Given the description of an element on the screen output the (x, y) to click on. 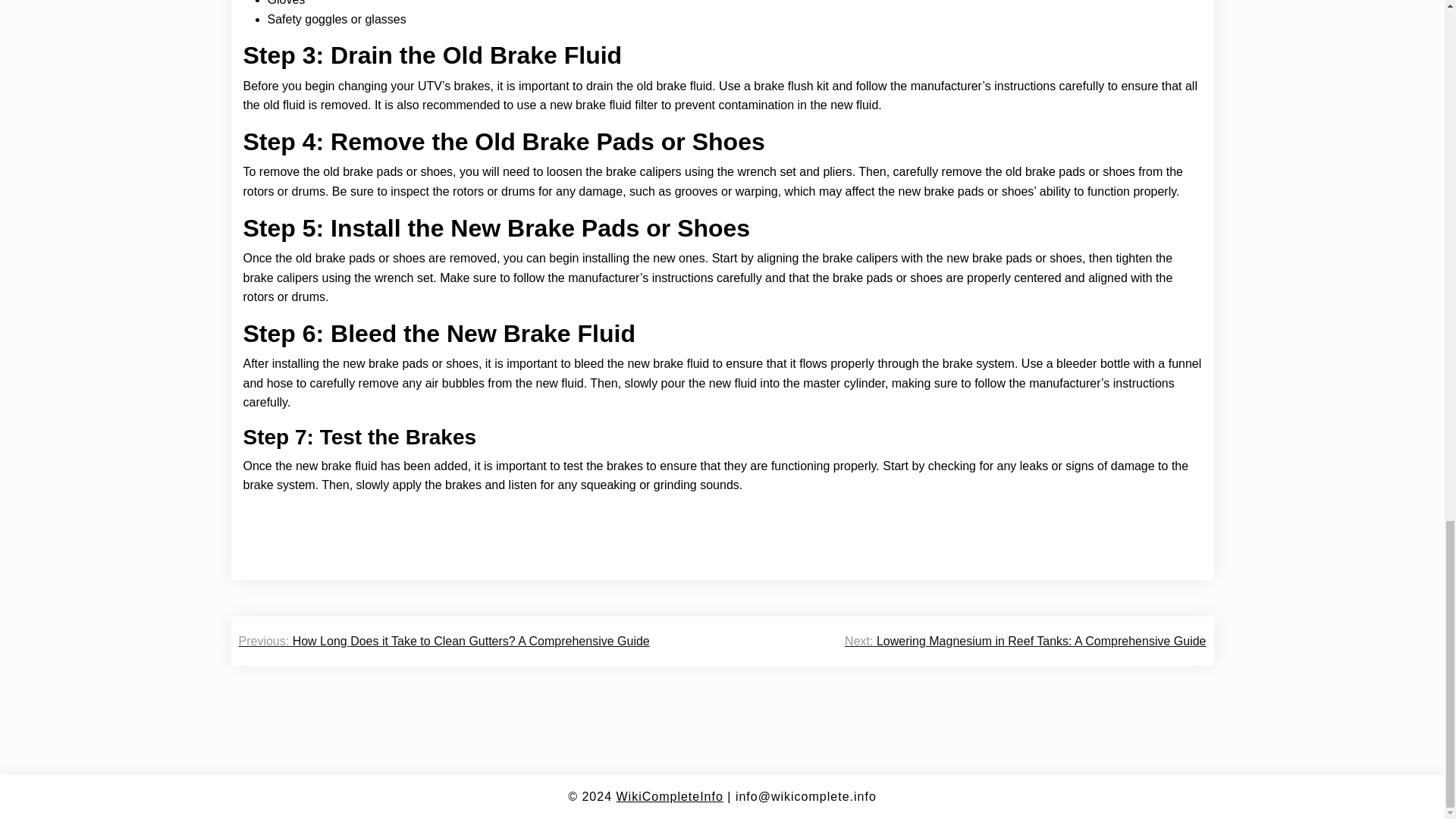
WikiCompleteInfo (668, 796)
